Given the description of an element on the screen output the (x, y) to click on. 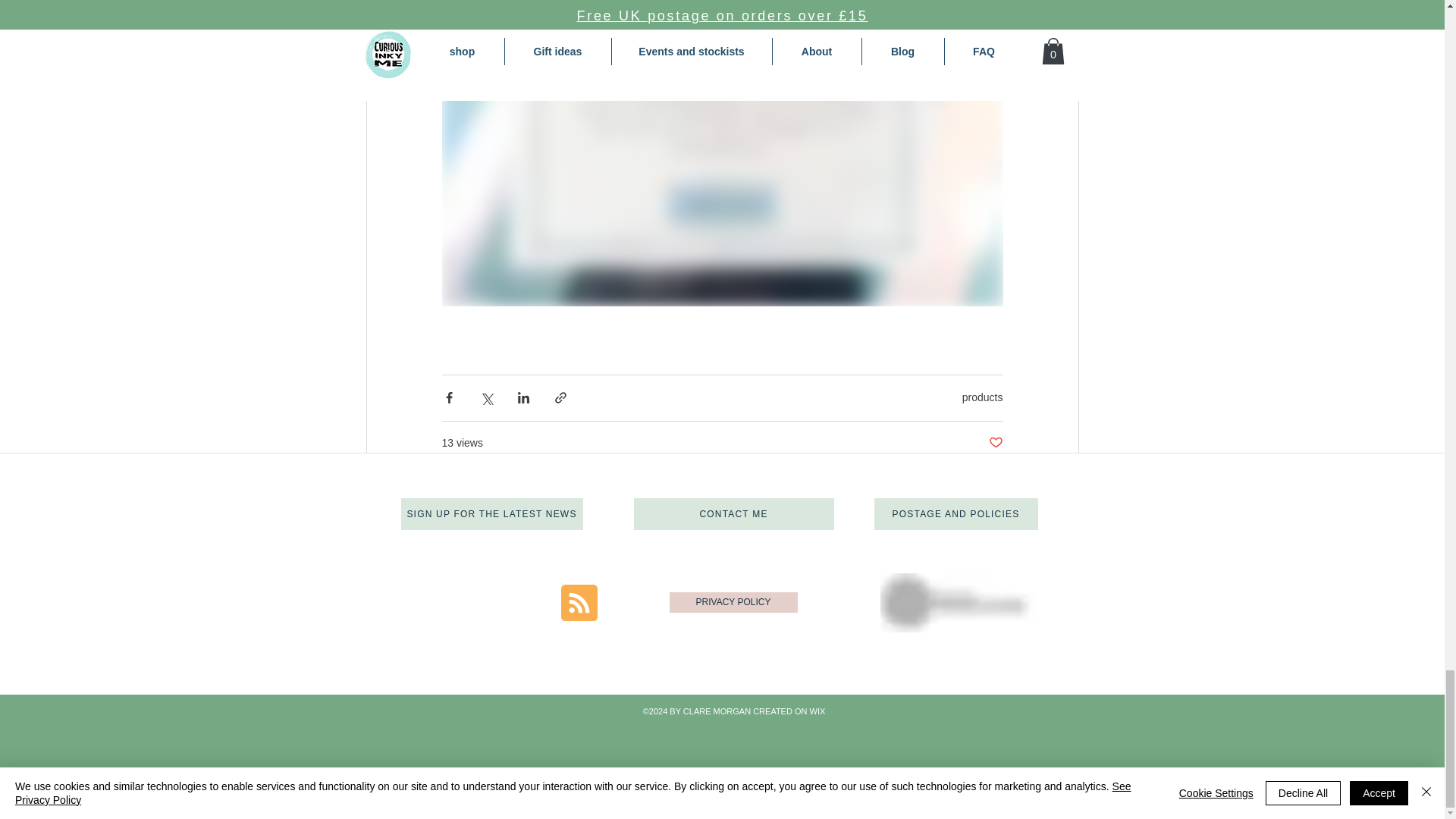
SIGN UP FOR THE LATEST NEWS (491, 513)
products (982, 397)
Post not marked as liked (995, 442)
Post not marked as liked (804, 762)
CONTACT ME (733, 513)
Post not marked as liked (1050, 762)
The Restore Series 2022 (967, 701)
The power of affirmations (721, 701)
See All (1061, 526)
Post not marked as liked (558, 762)
Bloomed: A new colourful floral linocut series (476, 709)
